Given the description of an element on the screen output the (x, y) to click on. 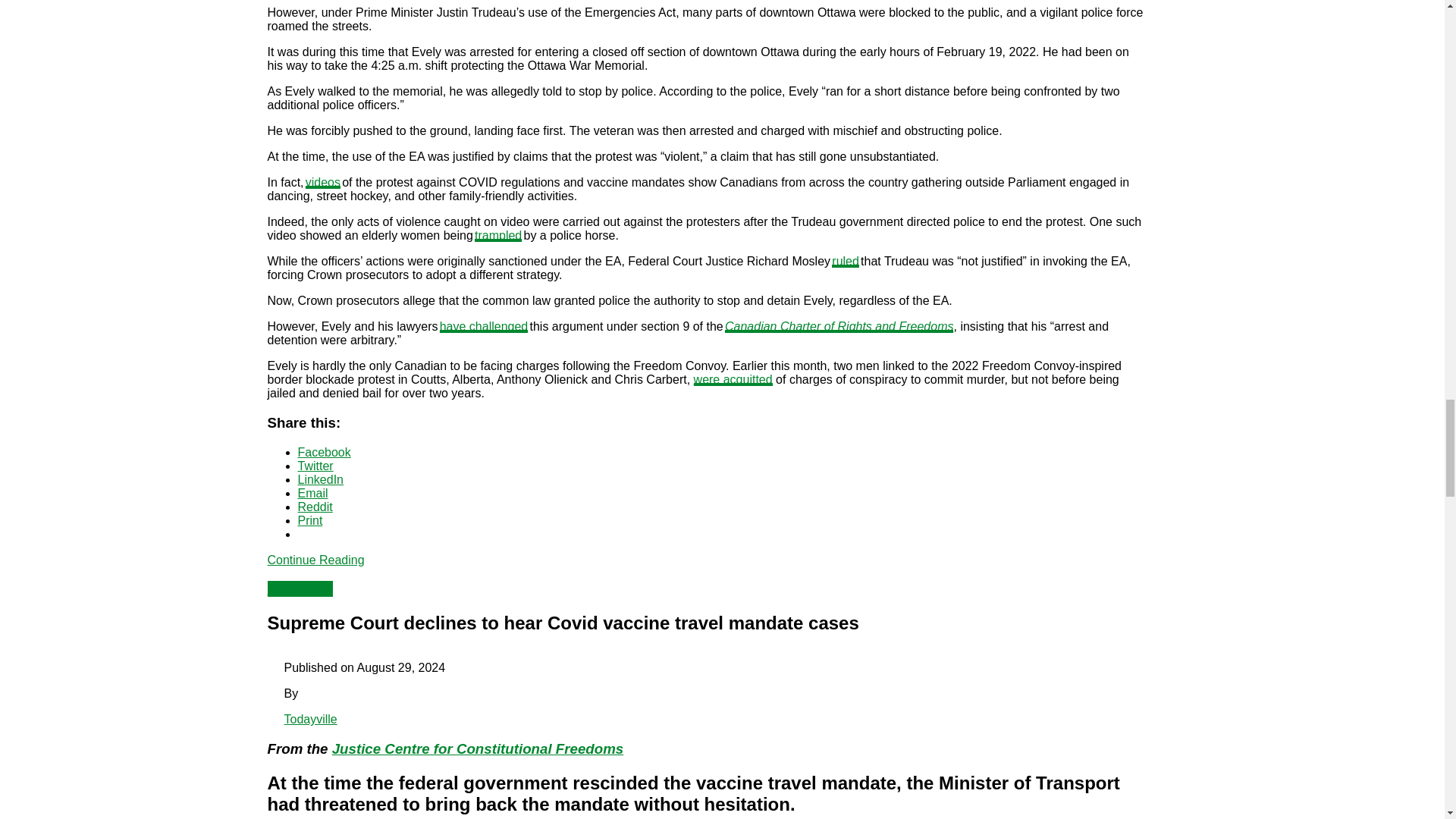
Click to share on LinkedIn (320, 479)
Click to share on Twitter (315, 465)
Click to email this to a friend (312, 492)
Click to share on Facebook (323, 451)
